Given the description of an element on the screen output the (x, y) to click on. 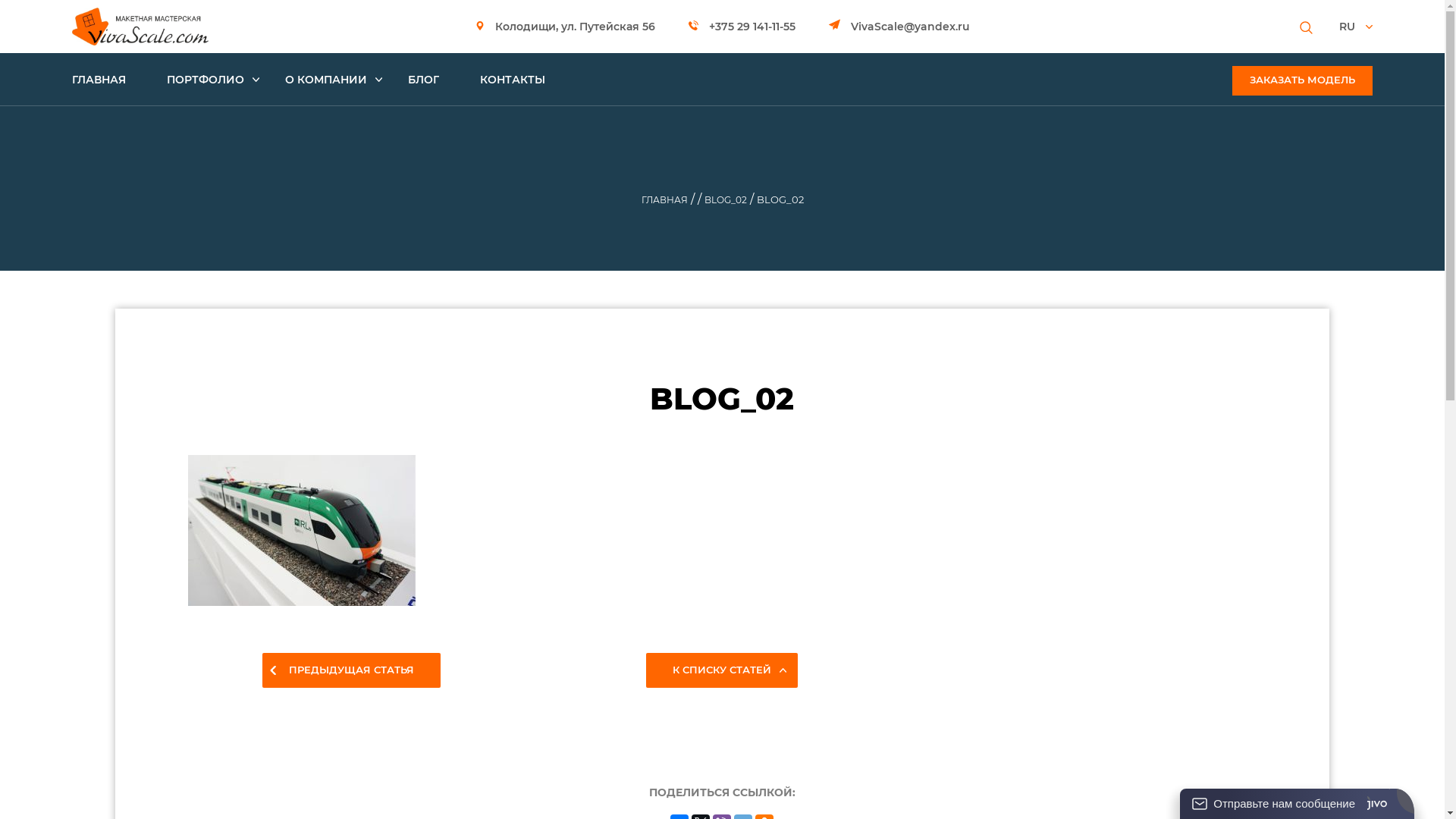
VivaScale@yandex.ru Element type: text (898, 26)
BLOG_02 Element type: text (724, 199)
RU Element type: text (1355, 26)
+375 29 141-11-55 Element type: text (741, 26)
